Given the description of an element on the screen output the (x, y) to click on. 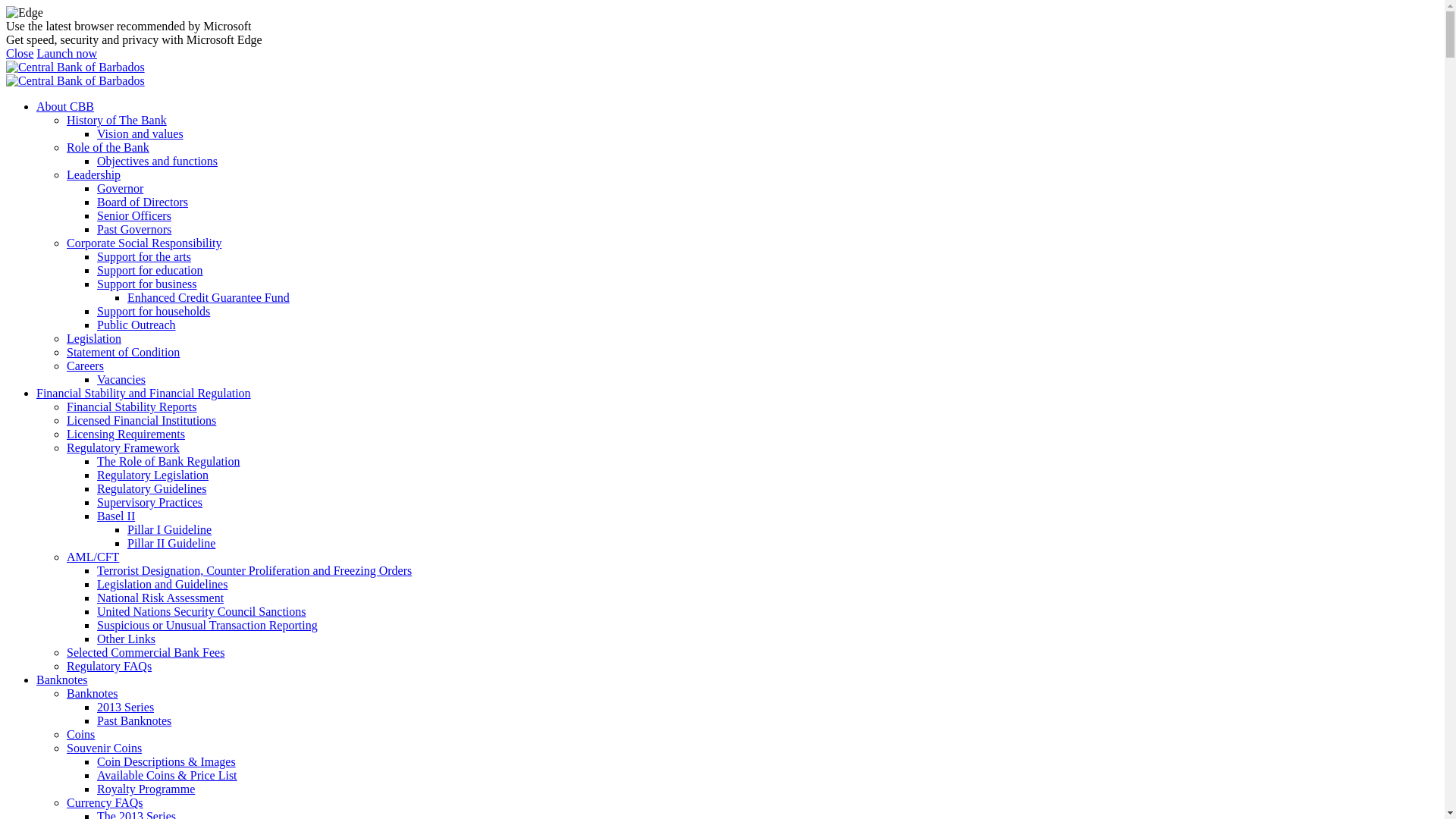
Other Links Element type: text (126, 638)
Corporate Social Responsibility Element type: text (143, 242)
Vacancies Element type: text (121, 379)
Regulatory Framework Element type: text (122, 447)
Role of the Bank Element type: text (107, 147)
Careers Element type: text (84, 365)
Support for business Element type: text (147, 283)
Licensed Financial Institutions Element type: text (141, 420)
Statement of Condition Element type: text (122, 351)
Central Bank of Barbados Element type: hover (75, 80)
Past Banknotes Element type: text (134, 720)
Available Coins & Price List Element type: text (167, 774)
Central Bank of Barbados Element type: hover (75, 67)
History of The Bank Element type: text (116, 119)
Currency FAQs Element type: text (104, 802)
Objectives and functions Element type: text (157, 160)
Legislation Element type: text (93, 338)
Coins Element type: text (80, 734)
Board of Directors Element type: text (142, 201)
Support for households Element type: text (153, 310)
Vision and values Element type: text (140, 133)
Regulatory FAQs Element type: text (108, 665)
Public Outreach Element type: text (136, 324)
Support for education Element type: text (150, 269)
The Role of Bank Regulation Element type: text (168, 461)
Regulatory Guidelines Element type: text (151, 488)
Supervisory Practices Element type: text (149, 501)
Launch now Element type: text (66, 53)
Central Bank of Barbados Element type: hover (75, 66)
Royalty Programme Element type: text (145, 788)
Regulatory Legislation Element type: text (152, 474)
Support for the arts Element type: text (144, 256)
National Risk Assessment Element type: text (160, 597)
Pillar I Guideline Element type: text (169, 529)
Legislation and Guidelines Element type: text (162, 583)
Licensing Requirements Element type: text (125, 433)
Banknotes Element type: text (61, 679)
United Nations Security Council Sanctions Element type: text (201, 611)
AML/CFT Element type: text (92, 556)
Leadership Element type: text (93, 174)
Past Governors Element type: text (134, 228)
2013 Series Element type: text (125, 706)
Central Bank of Barbados Element type: hover (75, 80)
Souvenir Coins Element type: text (103, 747)
Financial Stability Reports Element type: text (131, 406)
Pillar II Guideline Element type: text (171, 542)
Financial Stability and Financial Regulation Element type: text (143, 392)
Banknotes Element type: text (92, 693)
Selected Commercial Bank Fees Element type: text (145, 652)
Close Element type: text (19, 53)
Coin Descriptions & Images Element type: text (166, 761)
Basel II Element type: text (115, 515)
Senior Officers Element type: text (134, 215)
About CBB Element type: text (65, 106)
Suspicious or Unusual Transaction Reporting Element type: text (207, 624)
Governor Element type: text (120, 188)
Enhanced Credit Guarantee Fund Element type: text (208, 297)
